Given the description of an element on the screen output the (x, y) to click on. 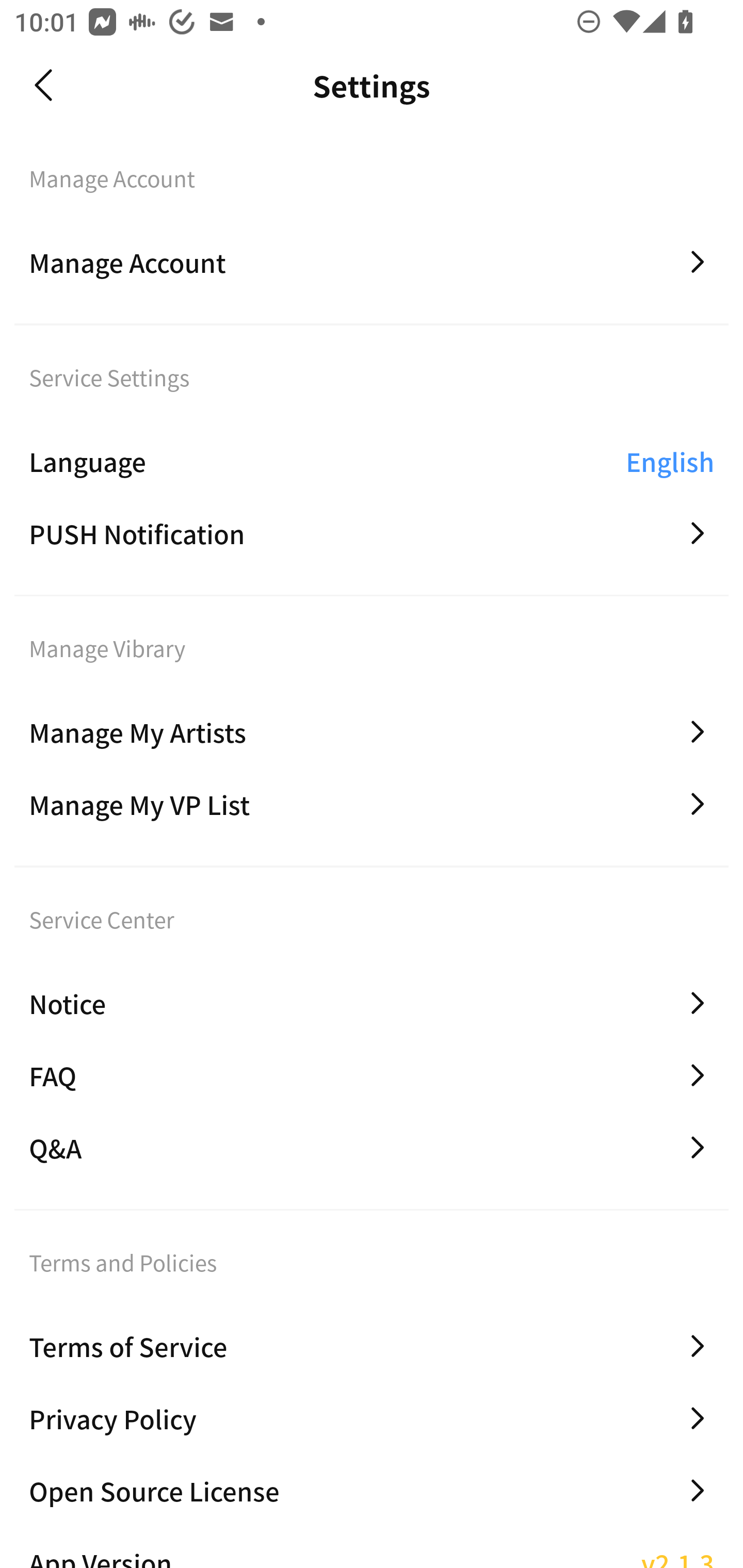
Manage Account (371, 261)
Language English (371, 460)
PUSH Notification (371, 533)
Manage My Artists (371, 732)
Manage My VP List (371, 804)
Notice (371, 1003)
FAQ (371, 1075)
Q&A (371, 1147)
Terms of Service (371, 1345)
Privacy Policy (371, 1418)
Open Source License (371, 1490)
